Given the description of an element on the screen output the (x, y) to click on. 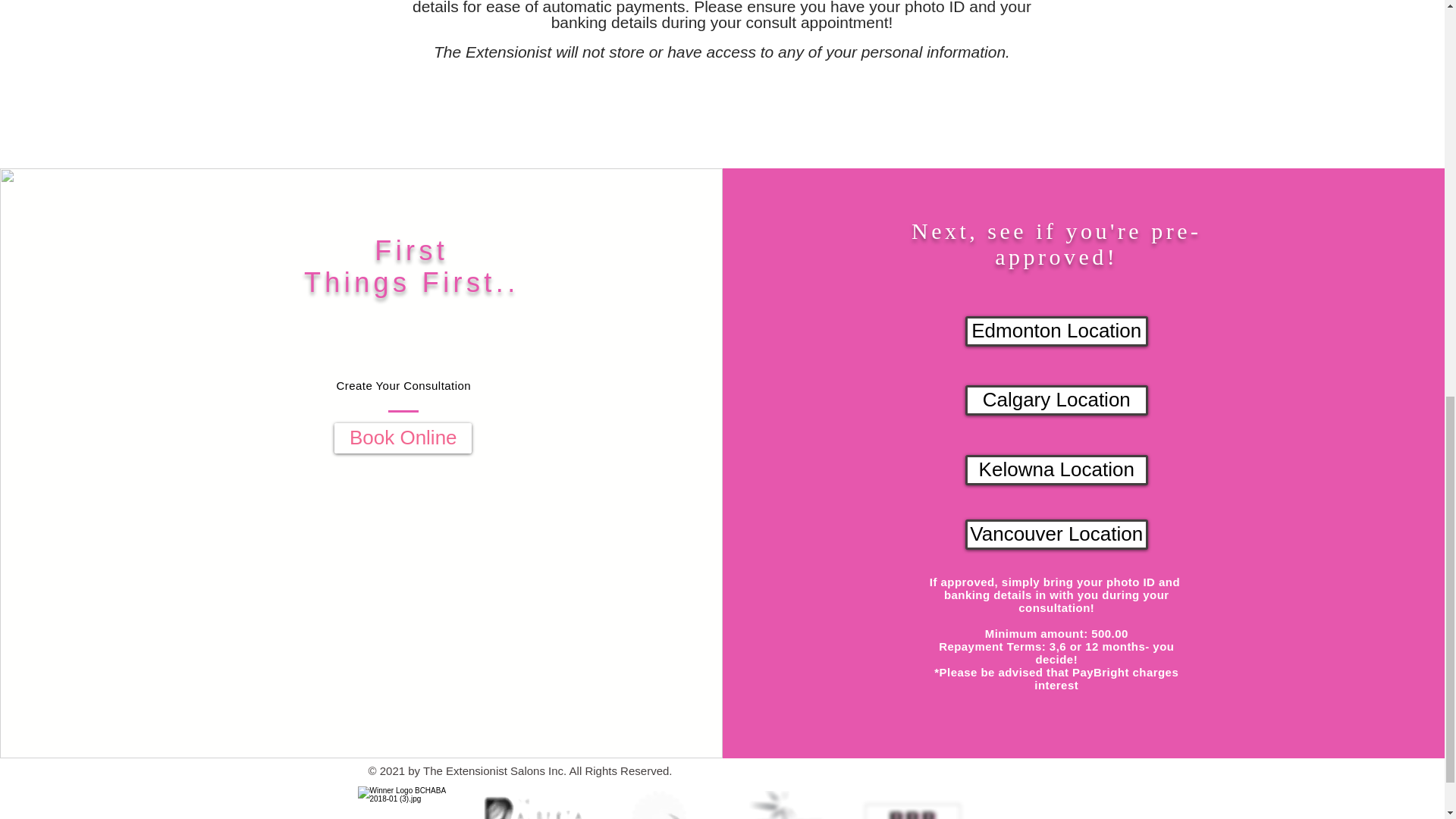
Kelowna Location (1056, 470)
Vancouver Location (1056, 533)
GCS Logo Vertical.jpg (660, 804)
Edmonton Location (1056, 330)
GCS Logo Vertical.jpg (536, 804)
ABAD 2016 Finalist Logo HIGH.png (788, 804)
IAO.jpg (412, 802)
Calgary Location (1056, 399)
Book Online (402, 438)
